Given the description of an element on the screen output the (x, y) to click on. 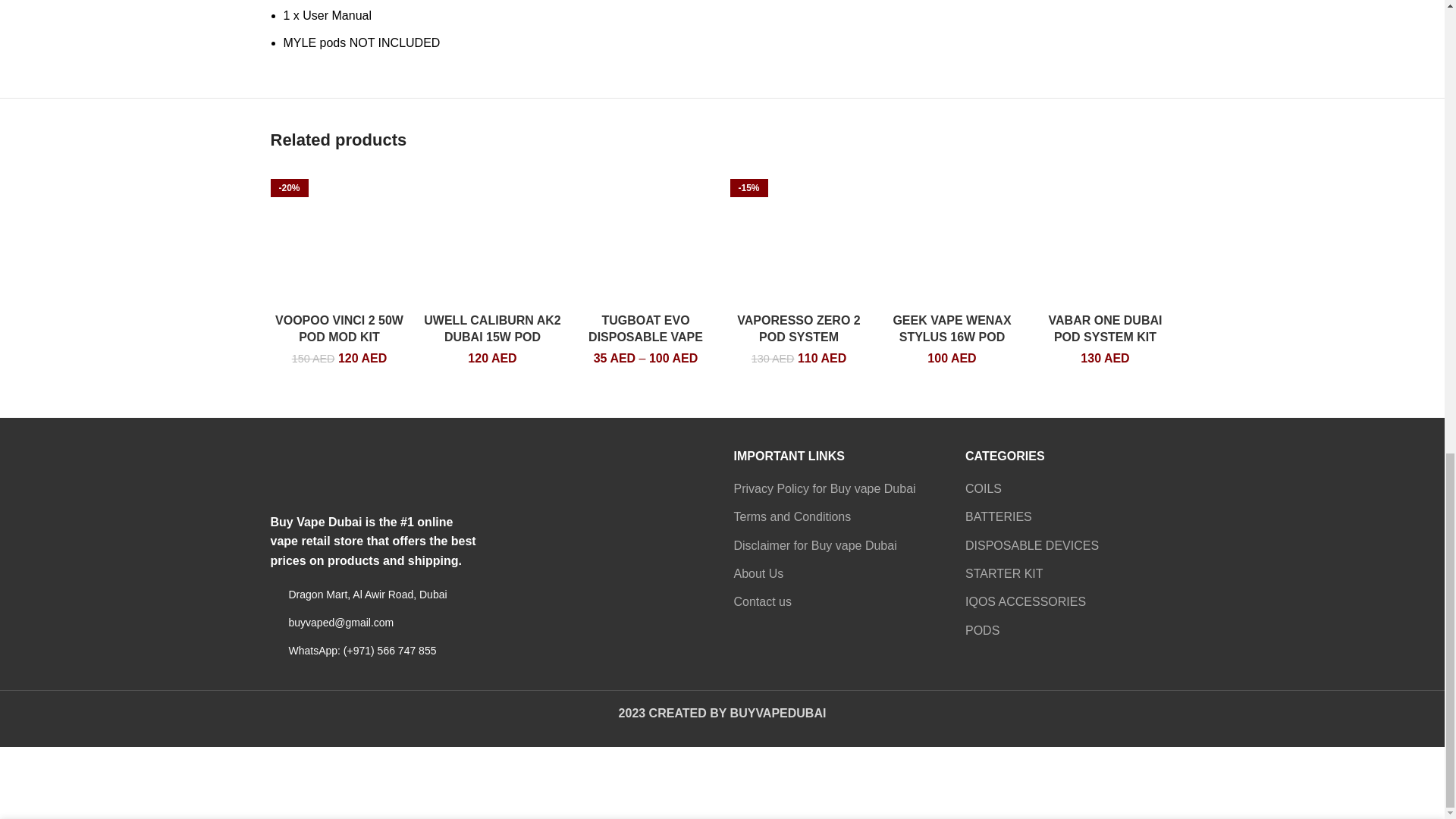
wd-phone-light (275, 650)
wd-cursor-light (275, 593)
wd-envelope-light (275, 622)
